Given the description of an element on the screen output the (x, y) to click on. 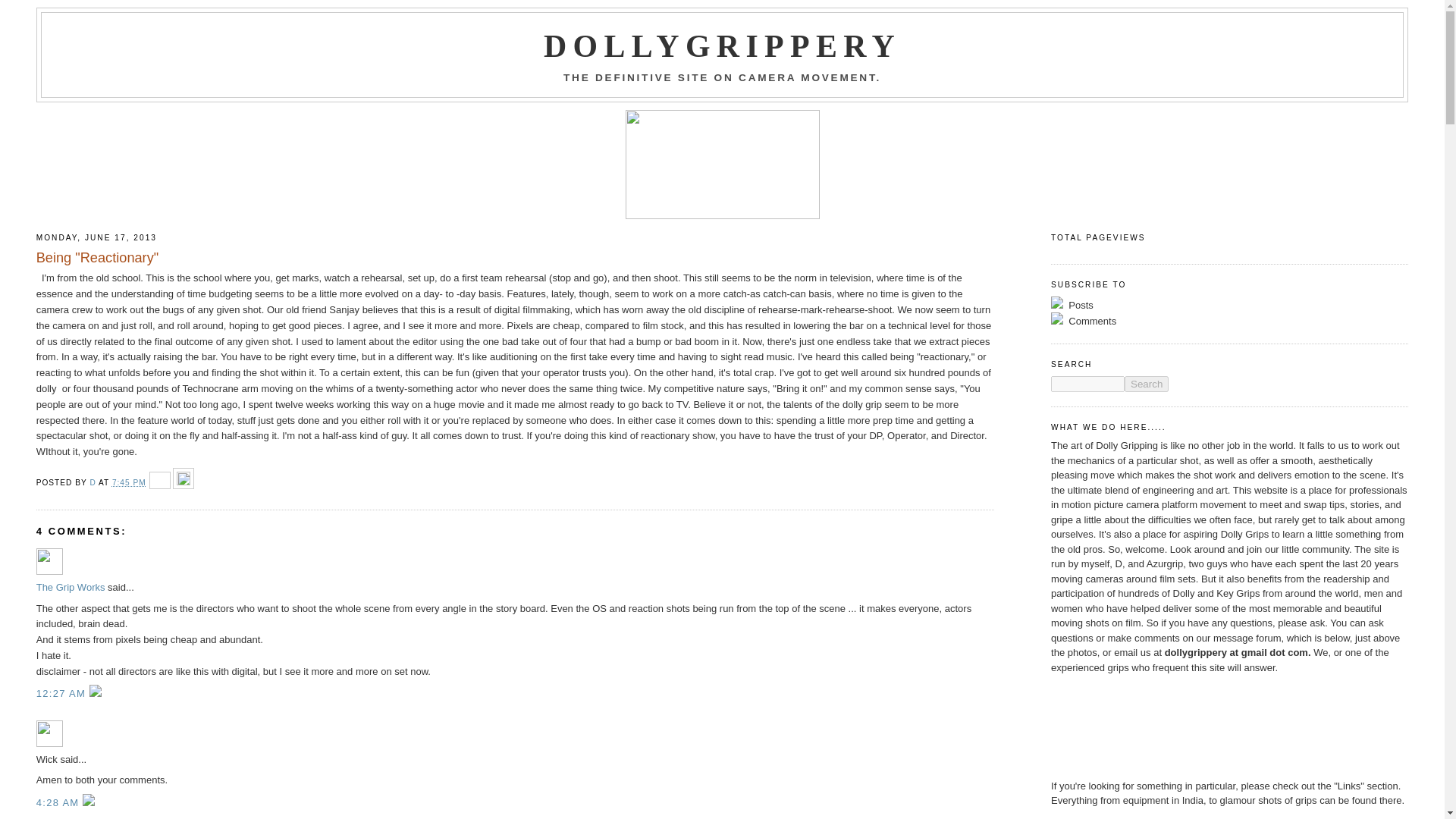
permanent link (129, 482)
Delete Comment (88, 802)
Email Post (161, 482)
D (93, 482)
comment permalink (62, 693)
Delete Comment (94, 693)
The Grip Works (70, 586)
comment permalink (59, 802)
Search (1146, 383)
4:28 AM (59, 802)
author profile (93, 482)
DOLLYGRIPPERY (722, 45)
Search (1146, 383)
Search (1146, 383)
The Grip Works (49, 560)
